Given the description of an element on the screen output the (x, y) to click on. 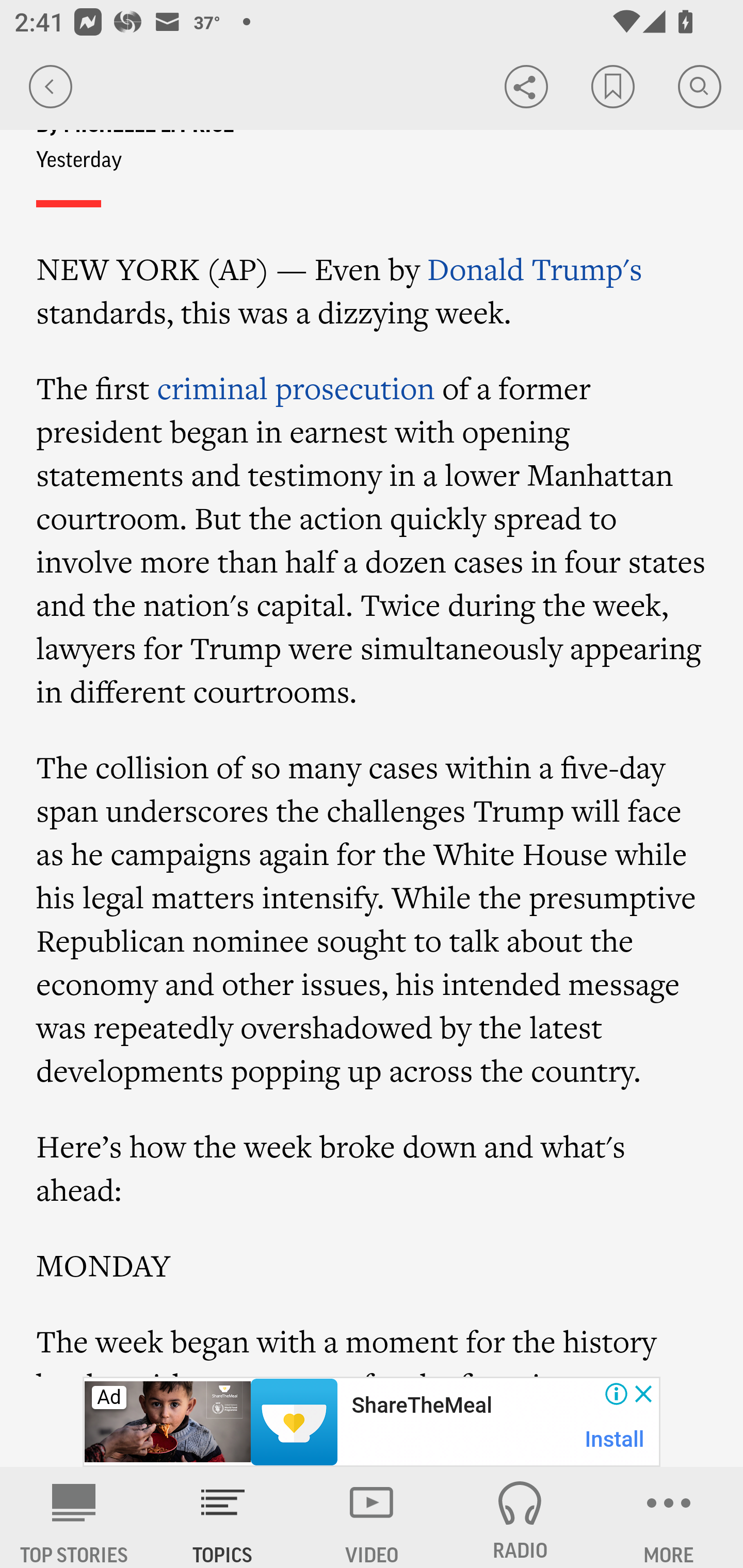
Donald Trump's (534, 269)
criminal prosecution (294, 388)
ShareTheMeal (420, 1405)
Install (614, 1438)
AP News TOP STORIES (74, 1517)
TOPICS (222, 1517)
VIDEO (371, 1517)
RADIO (519, 1517)
MORE (668, 1517)
